Given the description of an element on the screen output the (x, y) to click on. 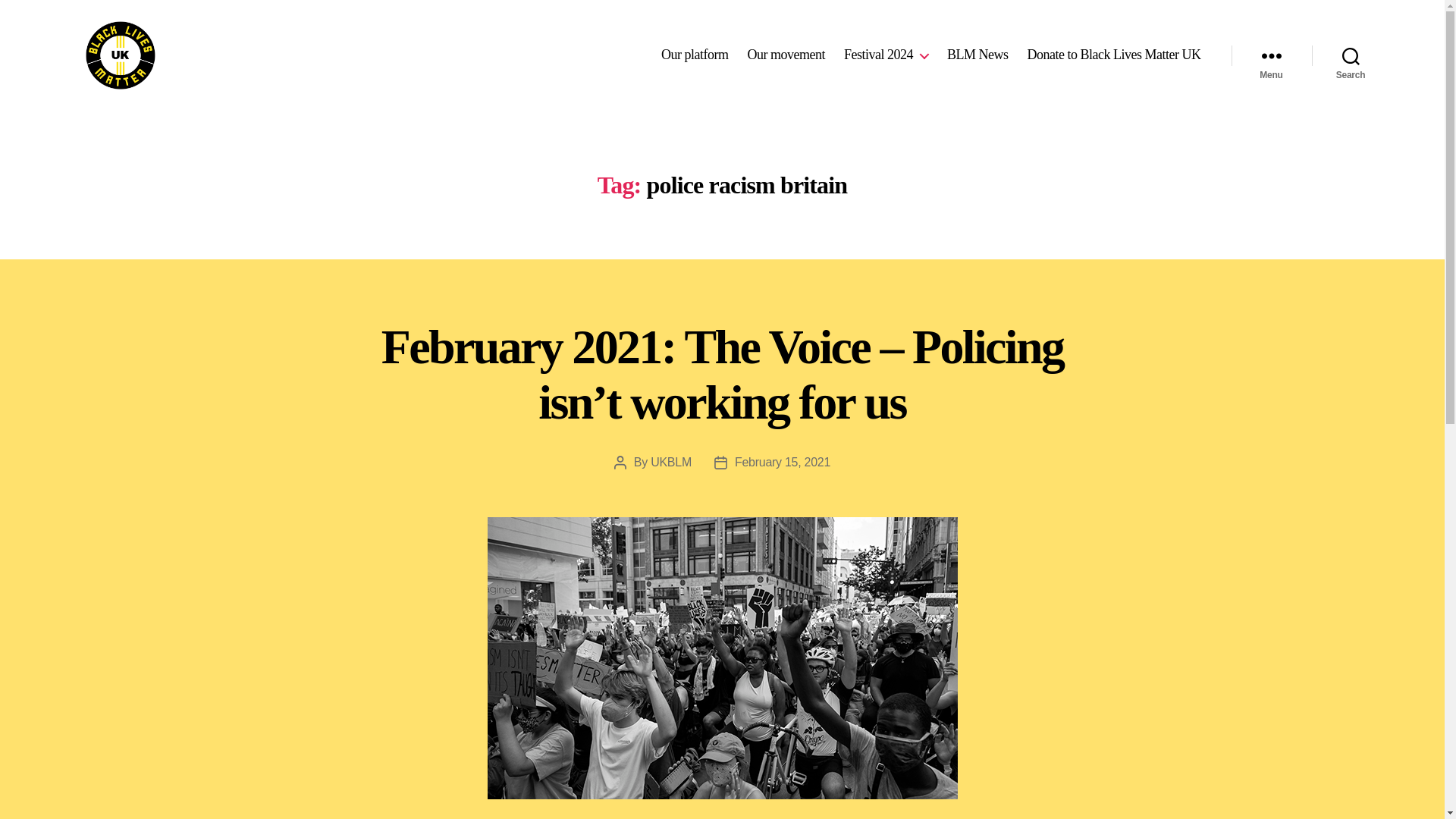
BLM News (978, 54)
Festival 2024 (886, 54)
Our movement (785, 54)
Menu (1271, 55)
Search (1350, 55)
Donate to Black Lives Matter UK (1114, 54)
February 15, 2021 (782, 461)
Our platform (695, 54)
UKBLM (670, 461)
